Given the description of an element on the screen output the (x, y) to click on. 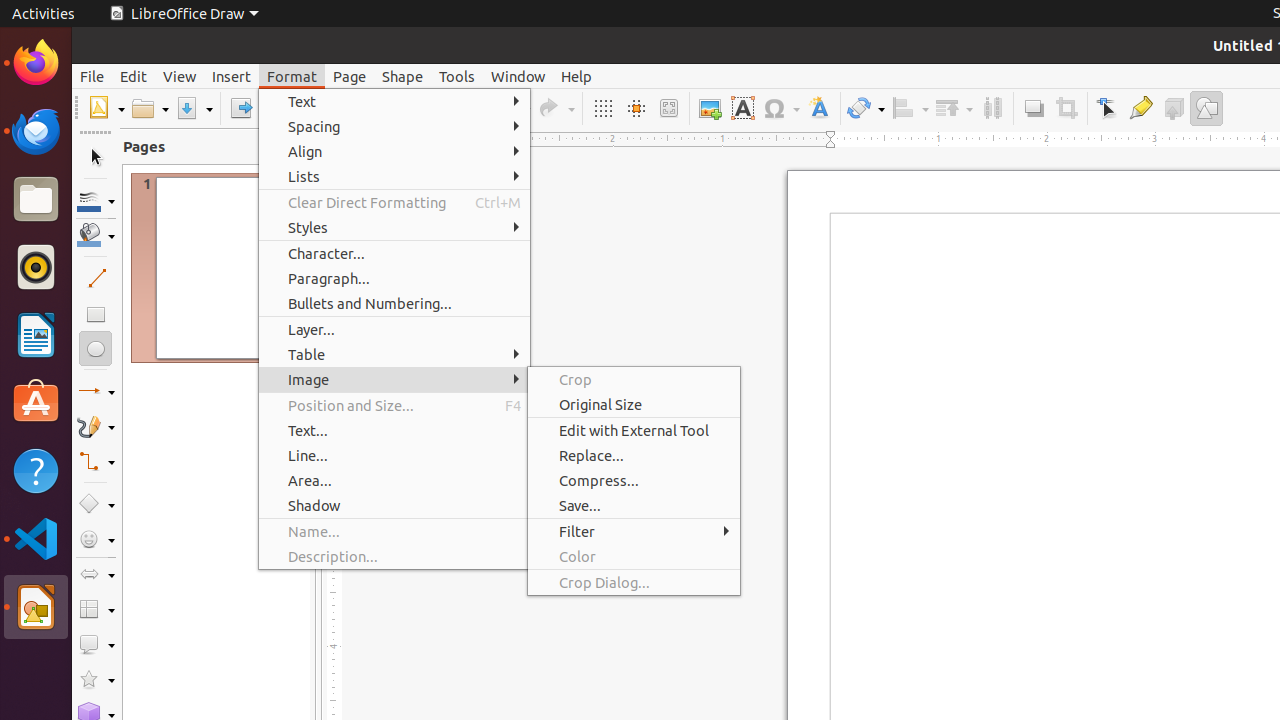
Save Element type: push-button (194, 108)
Symbol Element type: push-button (781, 108)
Text Box Element type: push-button (742, 108)
Files Element type: push-button (36, 199)
Page Element type: menu (349, 76)
